Given the description of an element on the screen output the (x, y) to click on. 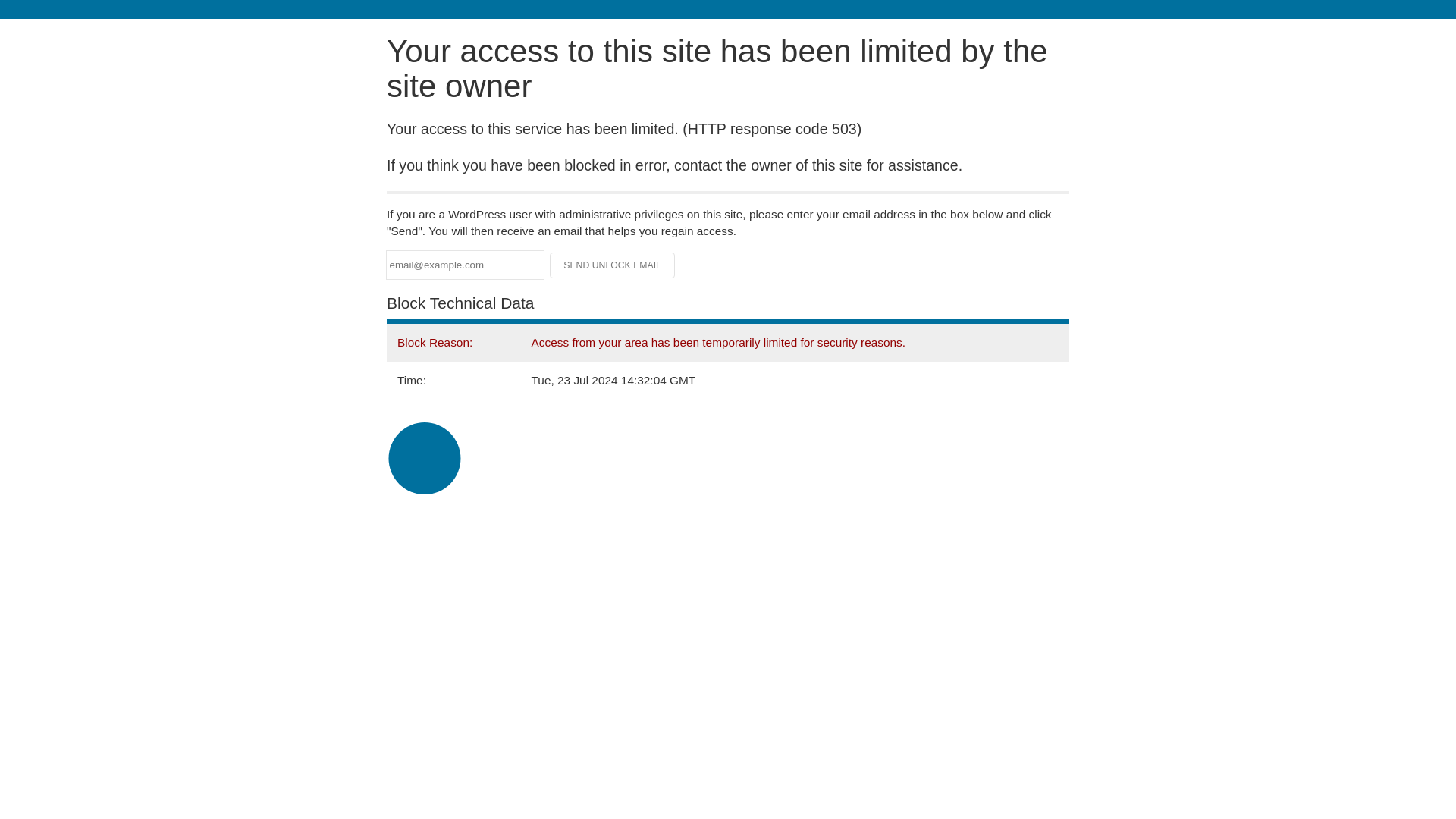
Send Unlock Email (612, 265)
Send Unlock Email (612, 265)
